Given the description of an element on the screen output the (x, y) to click on. 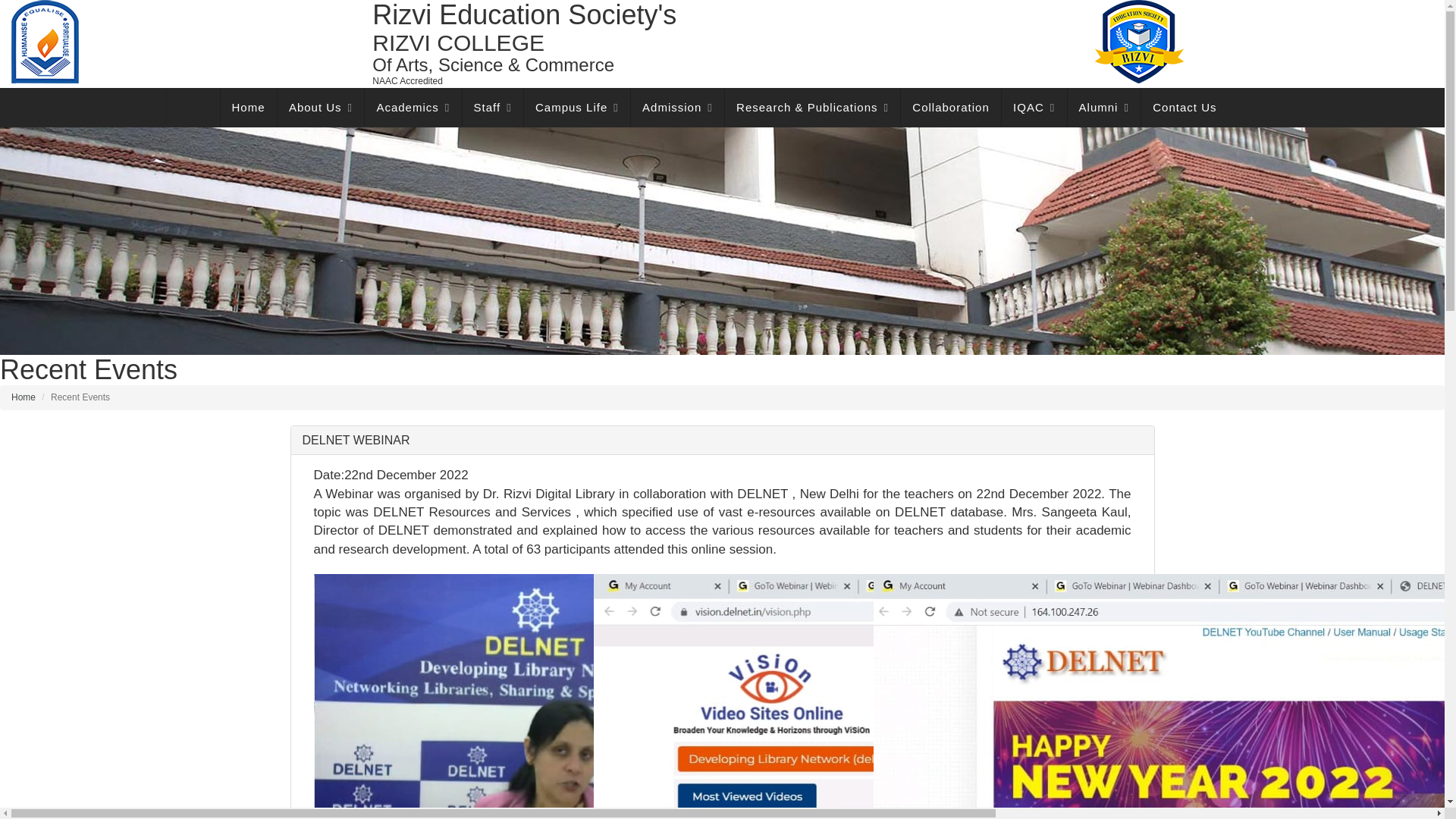
Staff (492, 107)
About Us (321, 107)
Home (248, 107)
Academics (413, 107)
Campus Life (577, 107)
